Given the description of an element on the screen output the (x, y) to click on. 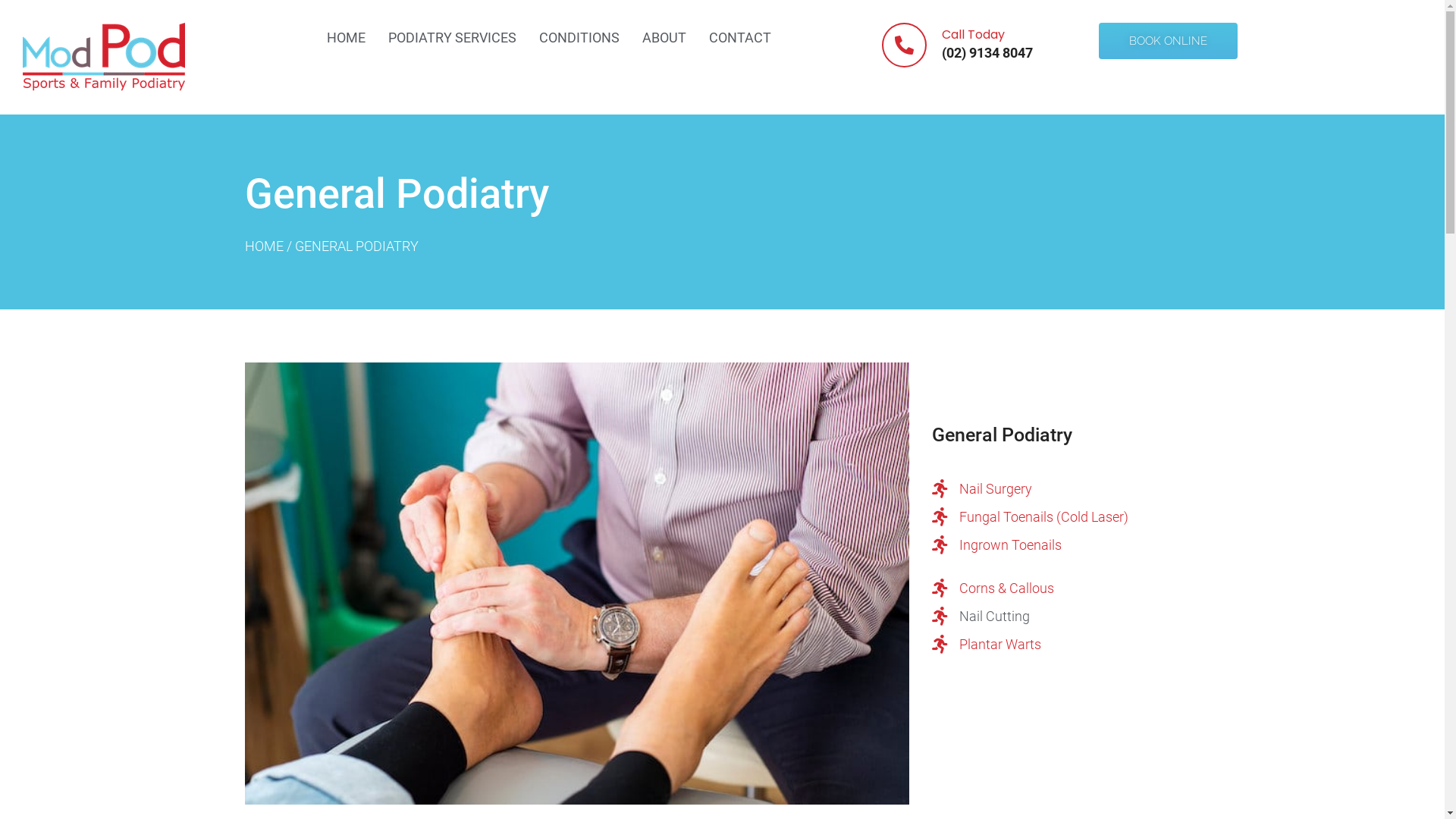
BOOK ONLINE Element type: text (1167, 40)
HOME Element type: text (345, 37)
CONDITIONS Element type: text (578, 37)
HOME Element type: text (263, 246)
Ingrown Toenails Element type: text (1061, 544)
CONTACT Element type: text (739, 37)
Fungal Toenails (Cold Laser) Element type: text (1061, 516)
PODIATRY SERVICES Element type: text (451, 37)
Plantar Warts Element type: text (1061, 643)
(02) 9134 8047 Element type: text (986, 52)
ABOUT Element type: text (663, 37)
Nail Surgery Element type: text (1061, 488)
Call Today Element type: text (972, 34)
Corns & Callous Element type: text (1061, 587)
